Given the description of an element on the screen output the (x, y) to click on. 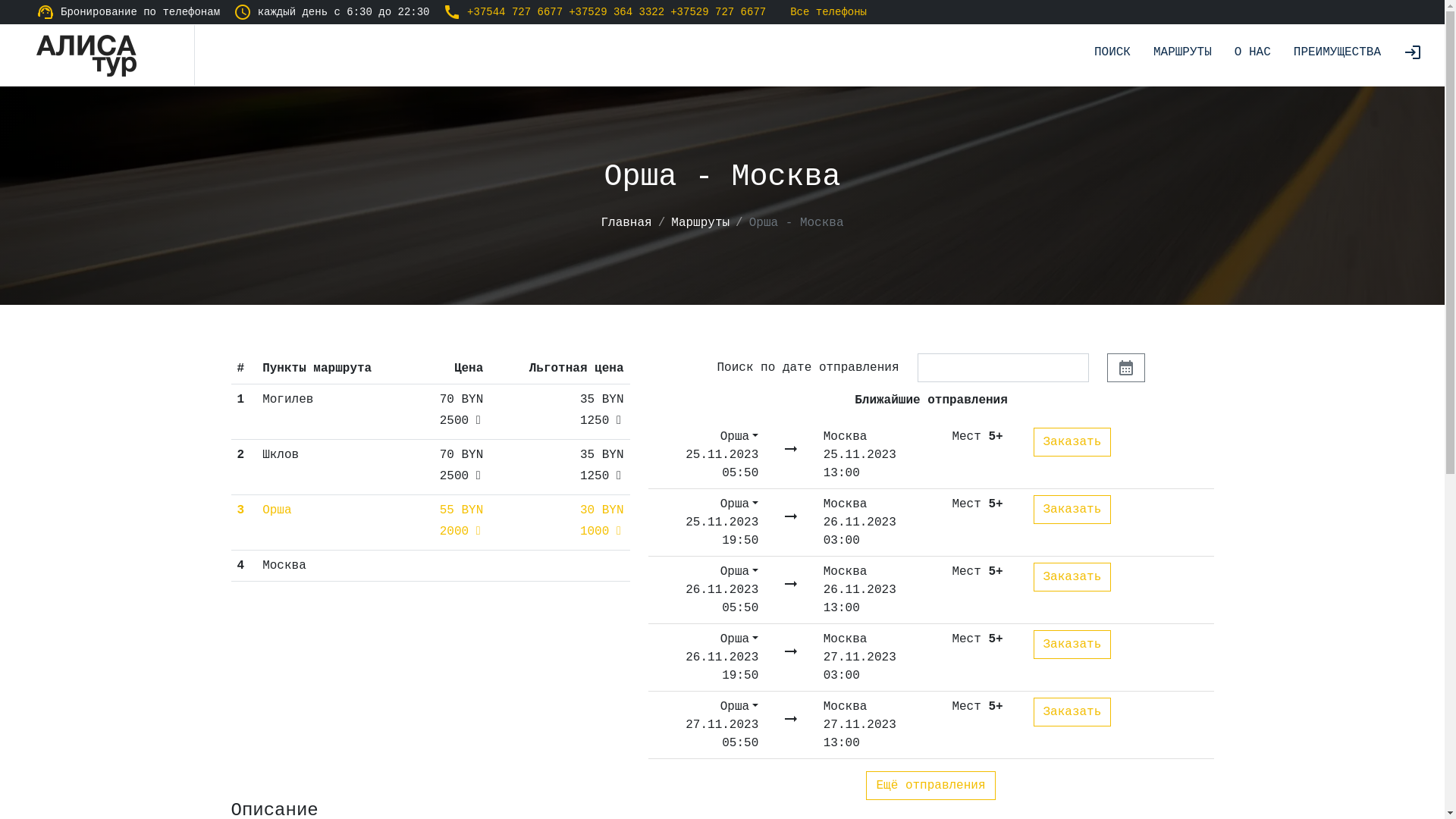
login Element type: text (1412, 55)
+37529 364 3322 Element type: text (616, 12)
+37544 727 6677 Element type: text (514, 12)
+37529 727 6677 Element type: text (717, 12)
